Given the description of an element on the screen output the (x, y) to click on. 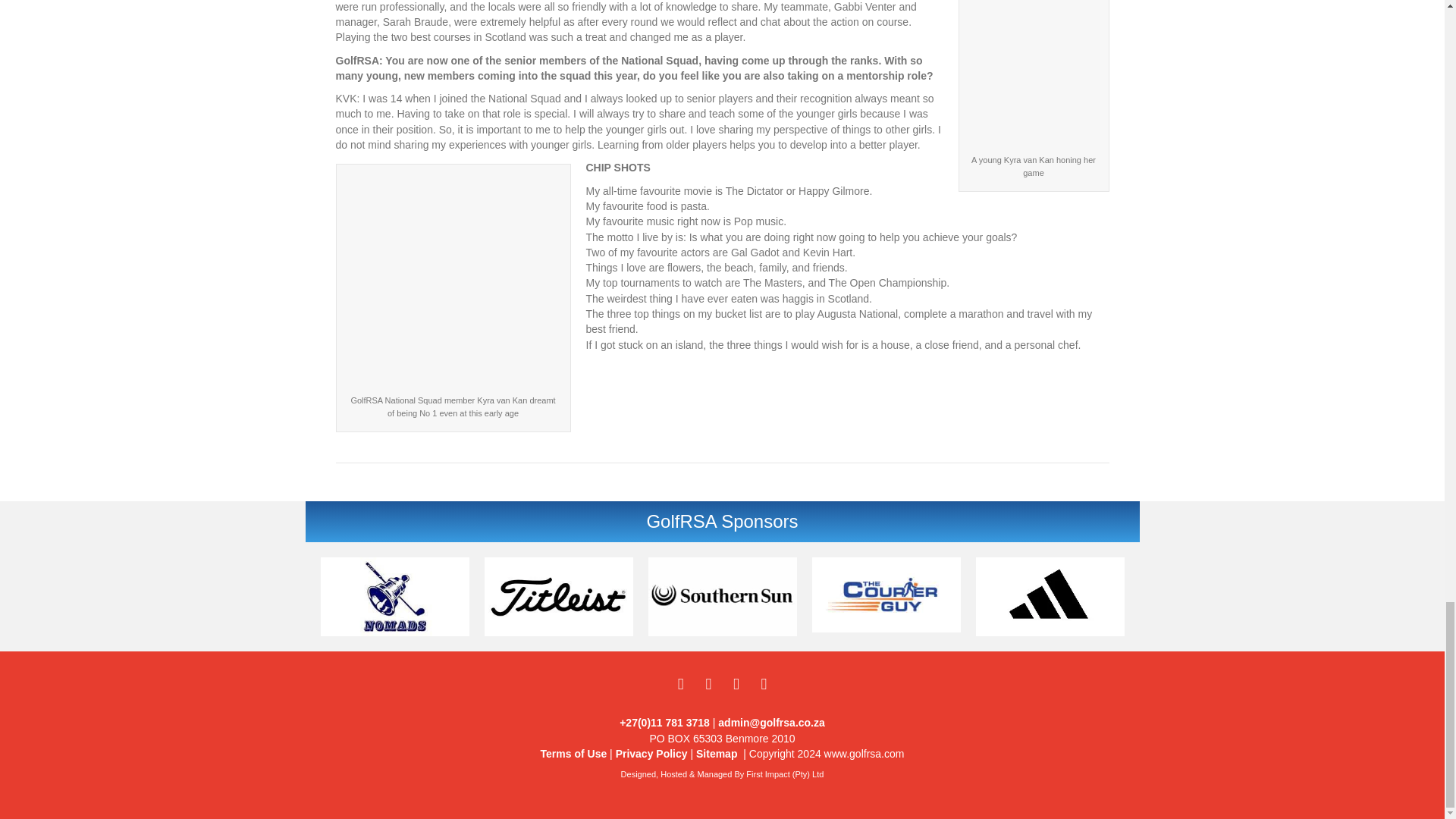
Untitled-1 (394, 597)
Addidas.1 (1049, 597)
titleist (557, 597)
Southern-Sun (721, 597)
